Given the description of an element on the screen output the (x, y) to click on. 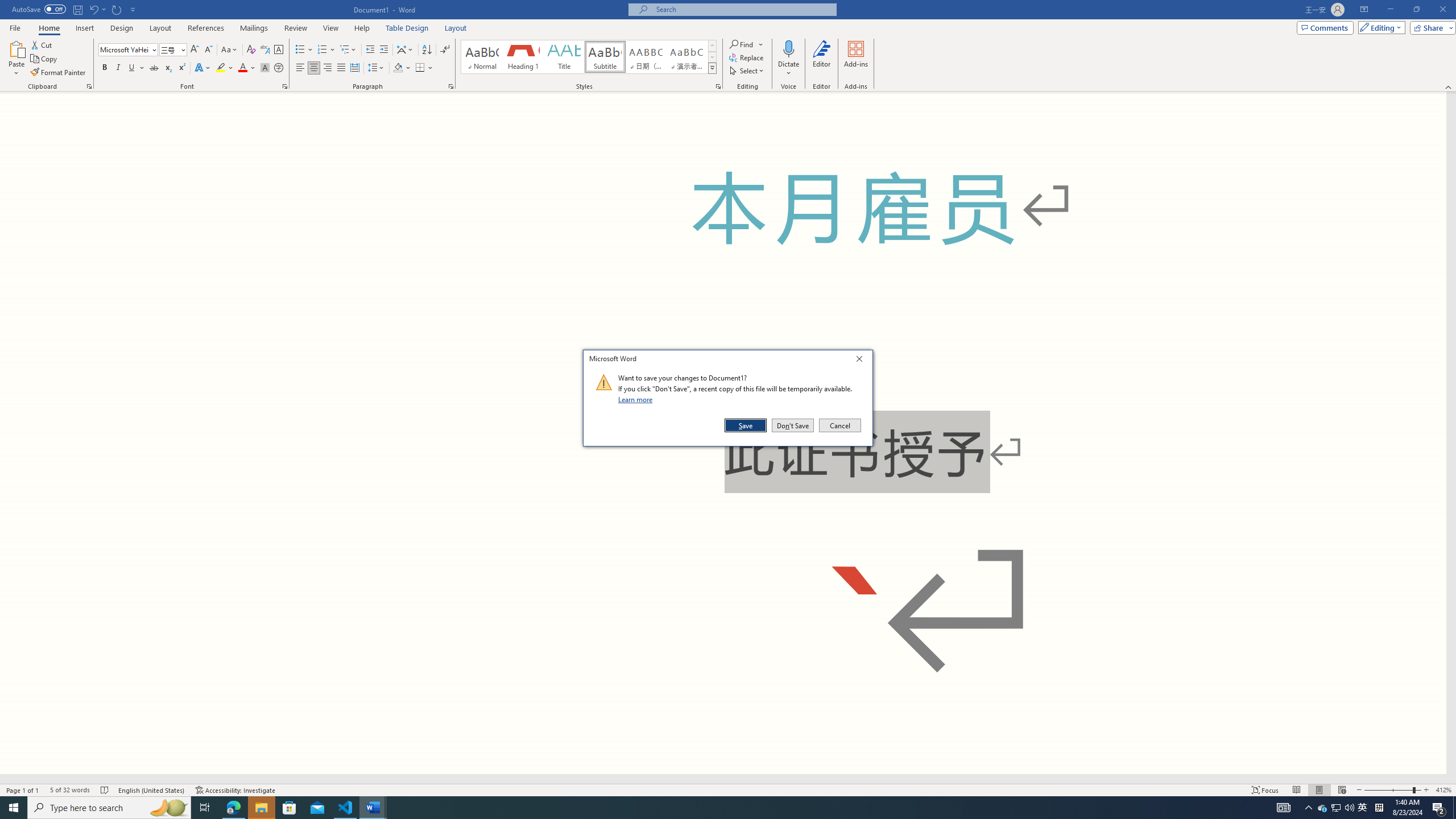
File Explorer - 1 running window (261, 807)
Close (862, 360)
Bullets (304, 49)
Microsoft Edge - 1 running window (233, 807)
Word Count 5 of 32 words (69, 790)
Heading 1 (522, 56)
Focus  (1265, 790)
Task View (204, 807)
Show desktop (1454, 807)
Zoom 412% (1443, 790)
Class: MsoCommandBar (728, 45)
Bullets (300, 49)
Styles... (717, 85)
Language English (United States) (152, 790)
